Given the description of an element on the screen output the (x, y) to click on. 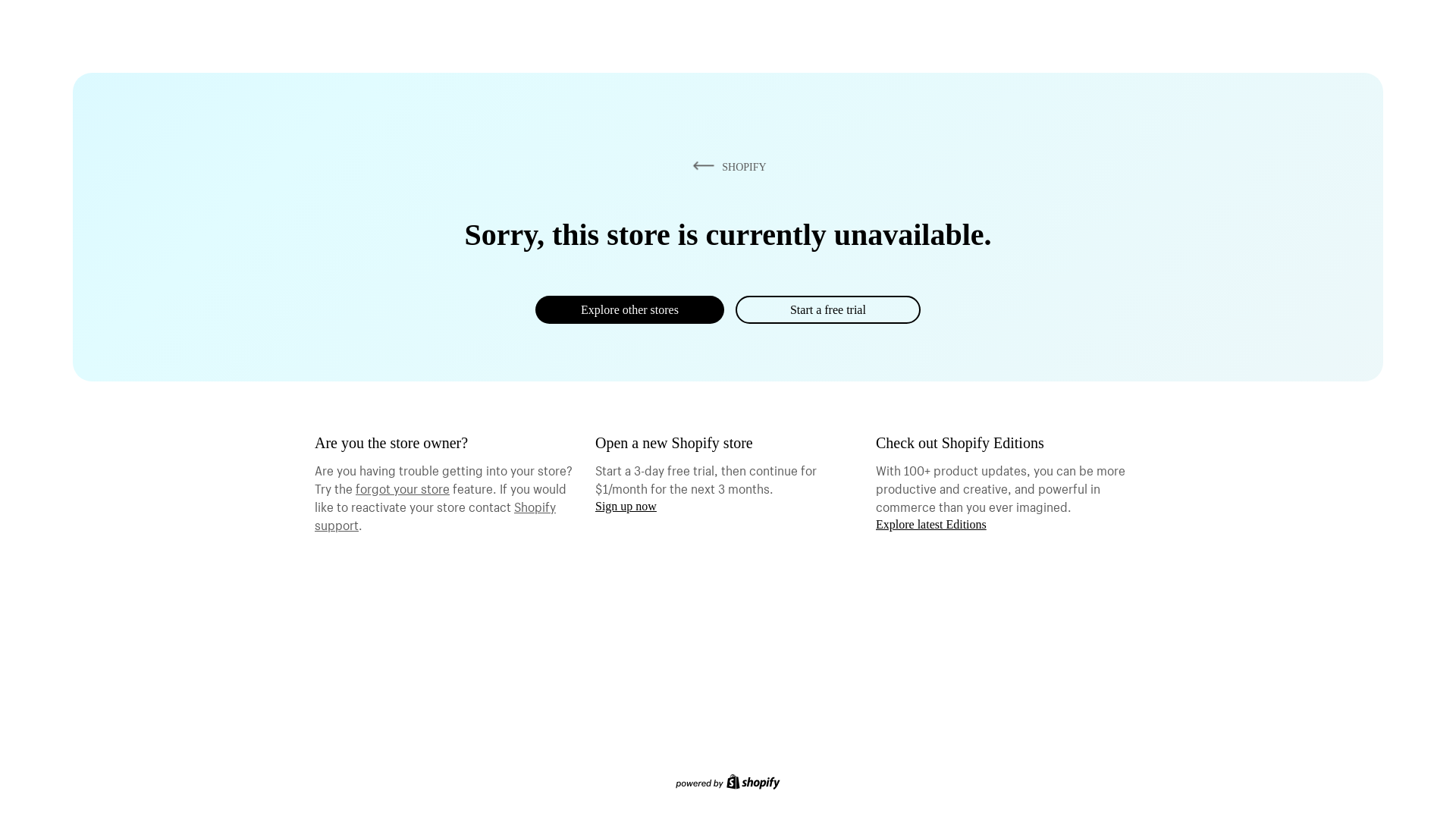
Explore other stores Element type: text (629, 309)
Explore latest Editions Element type: text (930, 523)
SHOPIFY Element type: text (727, 166)
Start a free trial Element type: text (827, 309)
forgot your store Element type: text (402, 486)
Sign up now Element type: text (625, 505)
Shopify support Element type: text (434, 514)
